Given the description of an element on the screen output the (x, y) to click on. 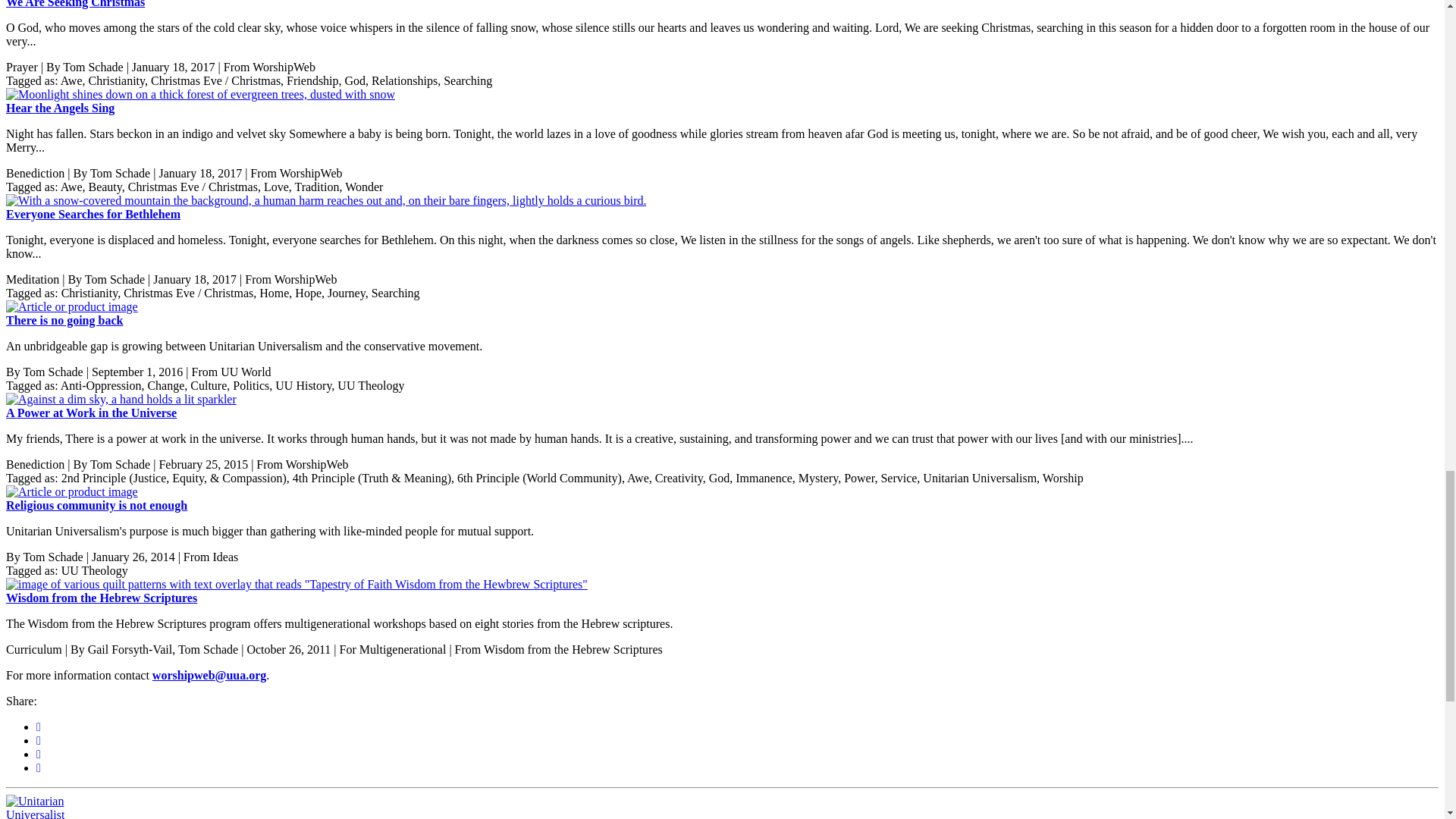
2024 UUA Copyright (296, 584)
